Given the description of an element on the screen output the (x, y) to click on. 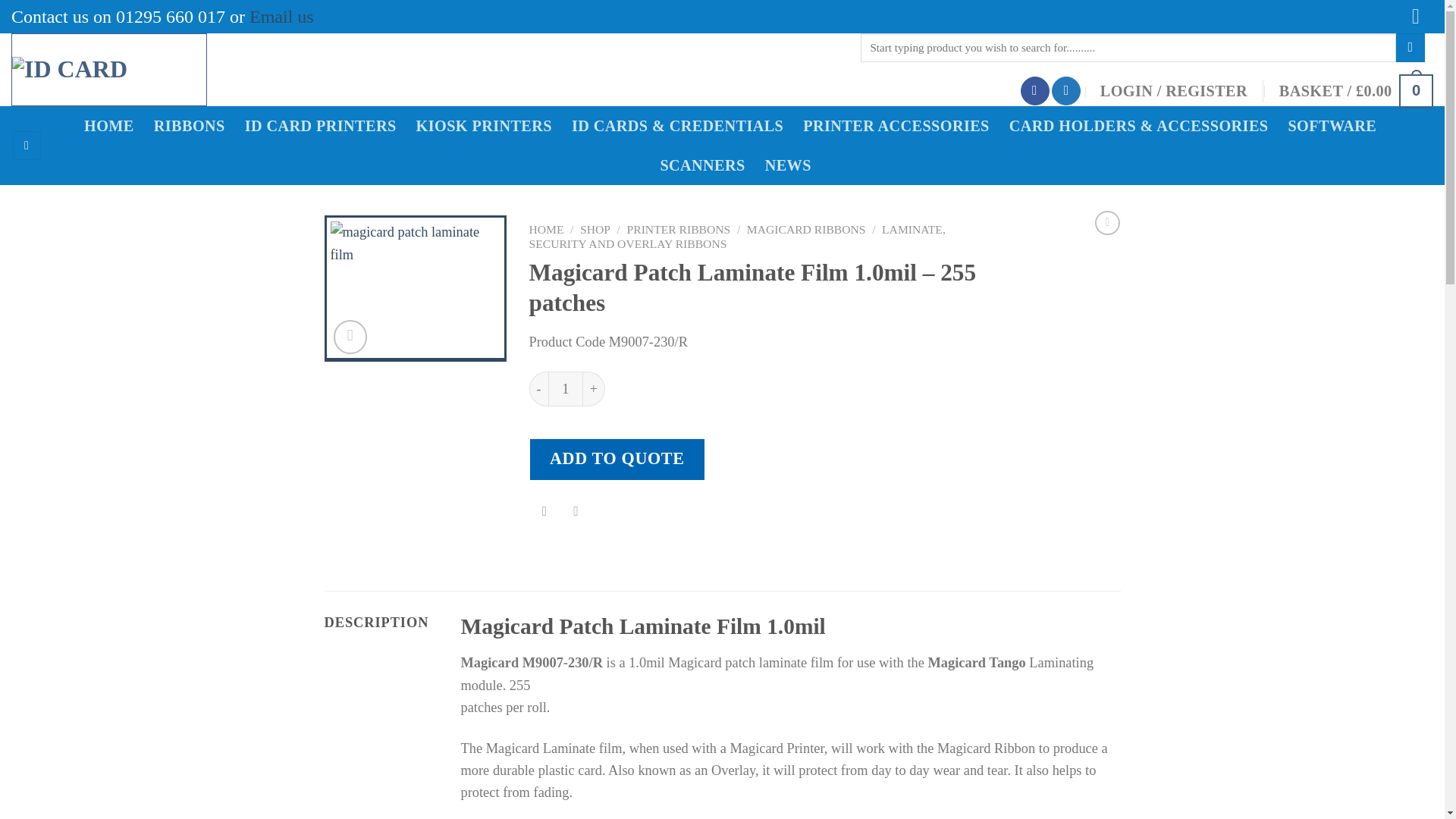
PRINTER ACCESSORIES (900, 125)
1 (565, 388)
MAGICARD RIBBONS (806, 228)
LAMINATE, SECURITY AND OVERLAY RIBBONS (736, 236)
SHOP (594, 228)
PRINTER RIBBONS (678, 228)
Basket (1355, 91)
ADD TO QUOTE (617, 458)
NEWS (793, 165)
Search (1410, 47)
Follow on Twitter (1065, 90)
HOME (546, 228)
SCANNERS (706, 165)
Follow on Facebook (1034, 90)
SOFTWARE (1336, 125)
